Given the description of an element on the screen output the (x, y) to click on. 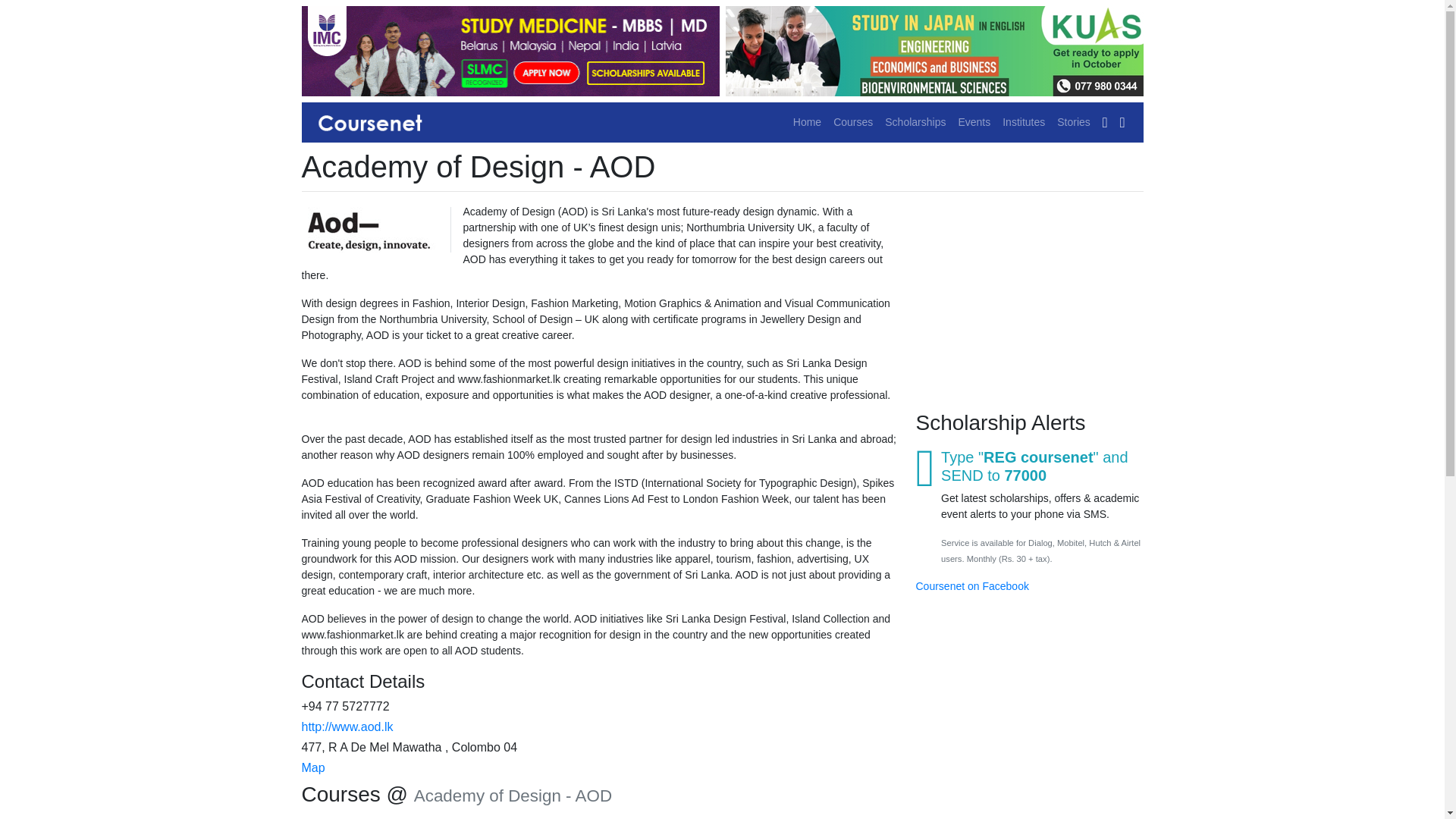
Courses (853, 122)
Scholarships (915, 122)
Map (312, 767)
Coursenet on Facebook (972, 585)
Events (973, 122)
Institutes (1023, 122)
Stories (1073, 122)
Home (807, 122)
Advertisement (1028, 298)
